Given the description of an element on the screen output the (x, y) to click on. 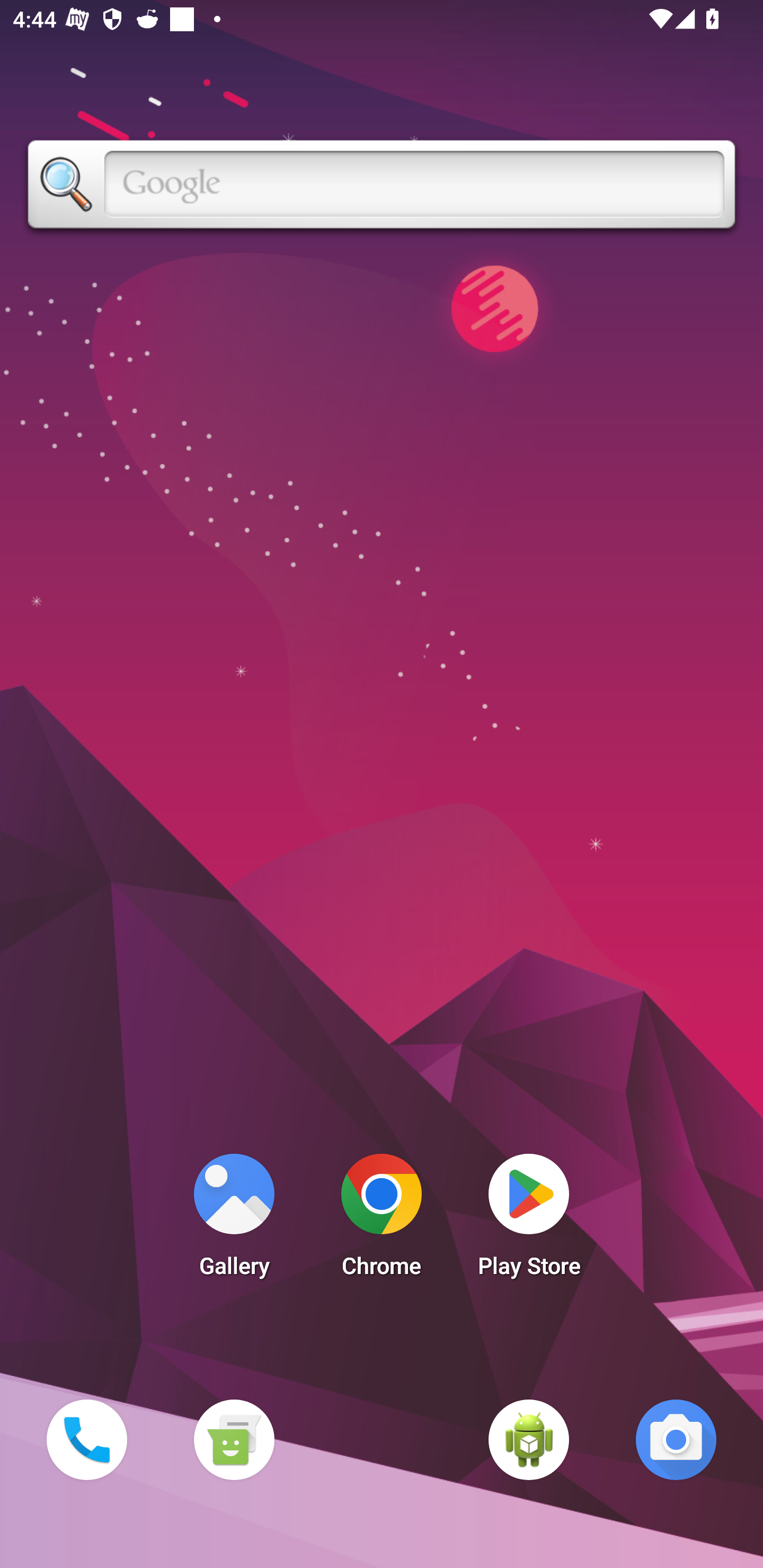
Gallery (233, 1220)
Chrome (381, 1220)
Play Store (528, 1220)
Phone (86, 1439)
Messaging (233, 1439)
WebView Browser Tester (528, 1439)
Camera (676, 1439)
